Given the description of an element on the screen output the (x, y) to click on. 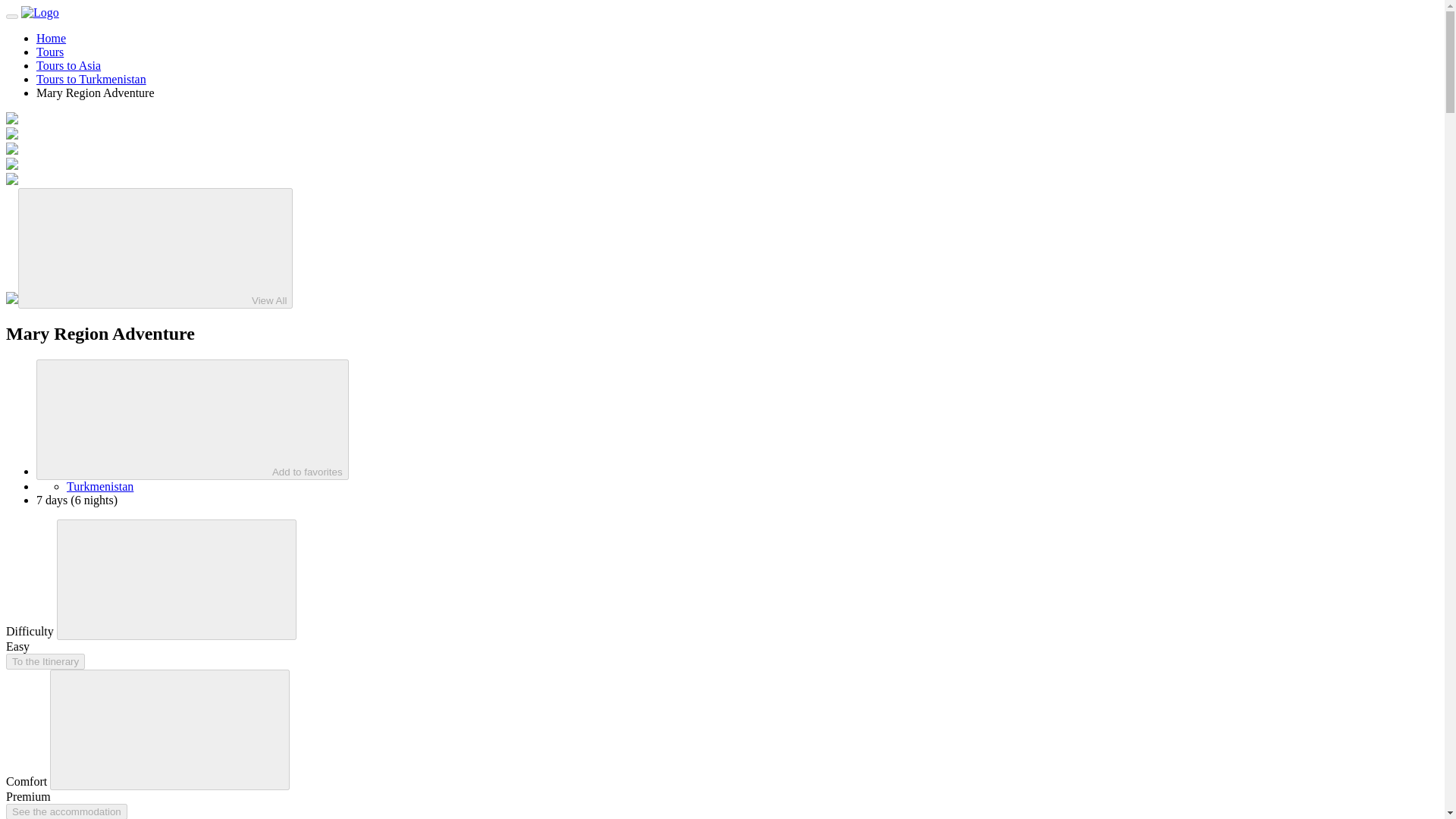
Tours (50, 51)
Tours to Turkmenistan (91, 78)
View All (154, 248)
See the accommodation (66, 811)
Tours to Asia (68, 65)
To the Itinerary (44, 661)
Home (50, 38)
Turkmenistan (99, 486)
Add to favorites (192, 419)
